Given the description of an element on the screen output the (x, y) to click on. 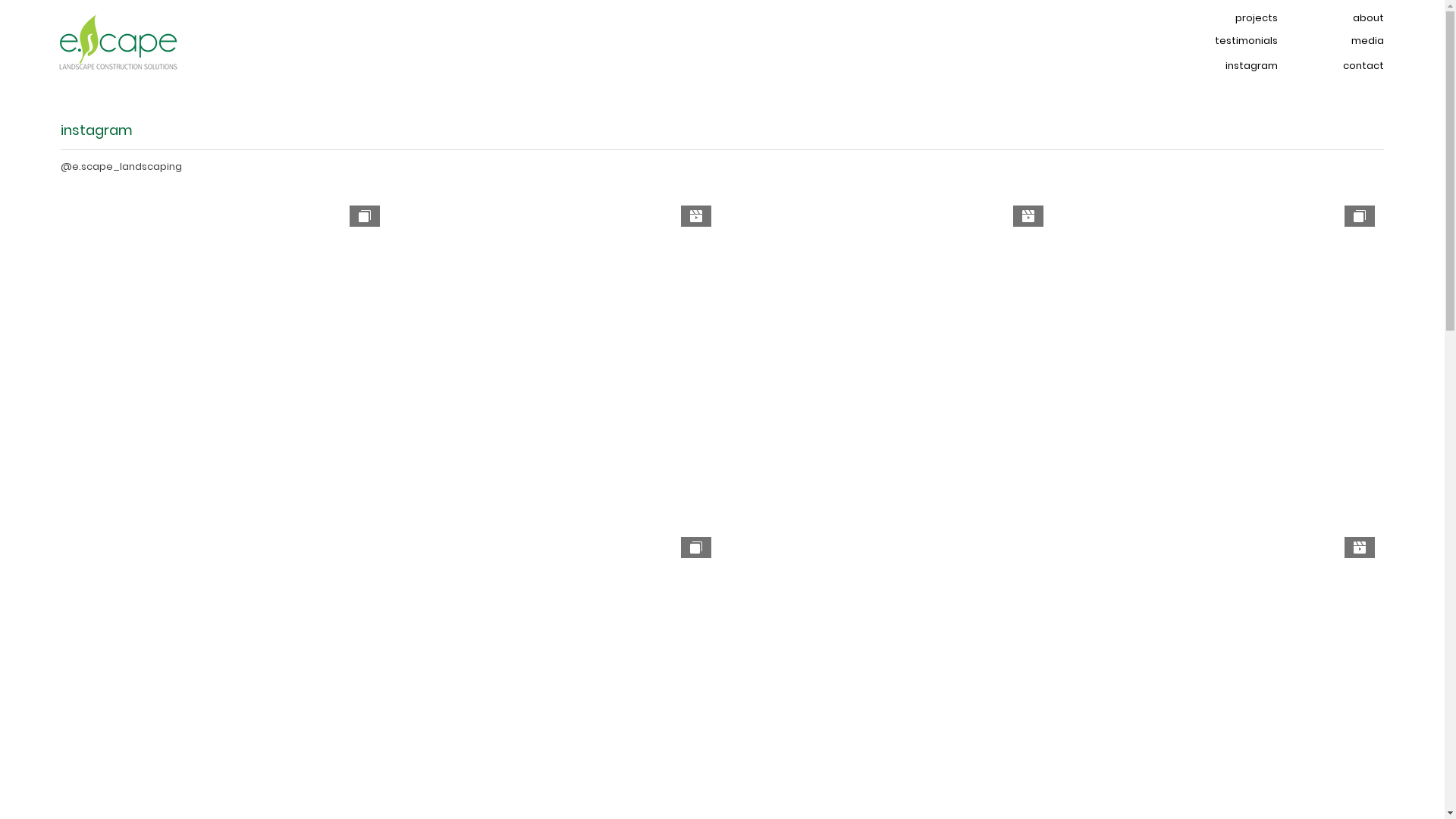
media Element type: text (1345, 40)
@e.scape_landscaping Element type: text (121, 166)
instagram Element type: text (1239, 65)
projects Element type: text (1239, 18)
contact Element type: text (1345, 65)
about Element type: text (1345, 18)
testimonials Element type: text (1239, 40)
